Given the description of an element on the screen output the (x, y) to click on. 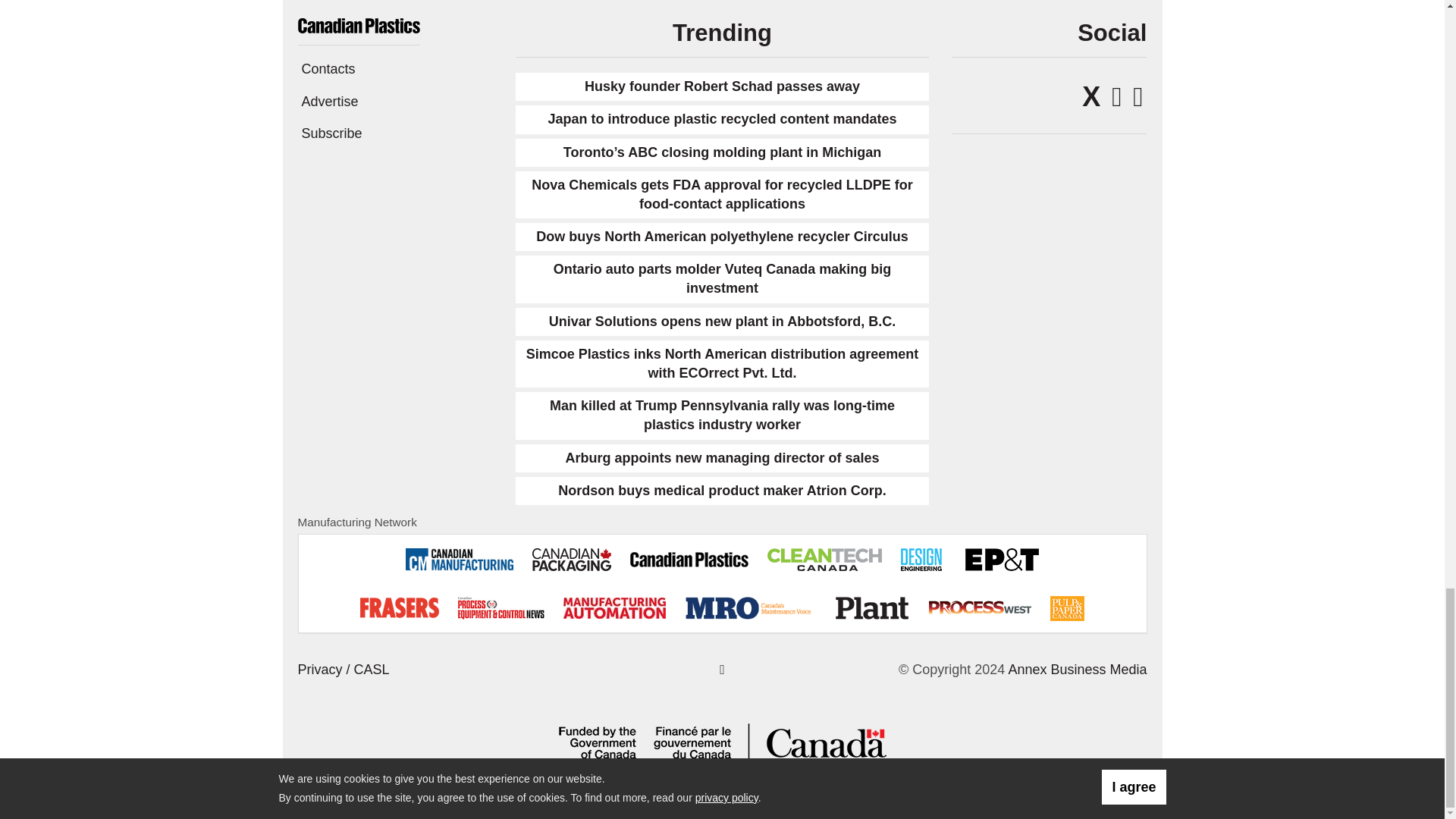
Canadian Plastics (358, 24)
Annex Business Media (1077, 669)
